Given the description of an element on the screen output the (x, y) to click on. 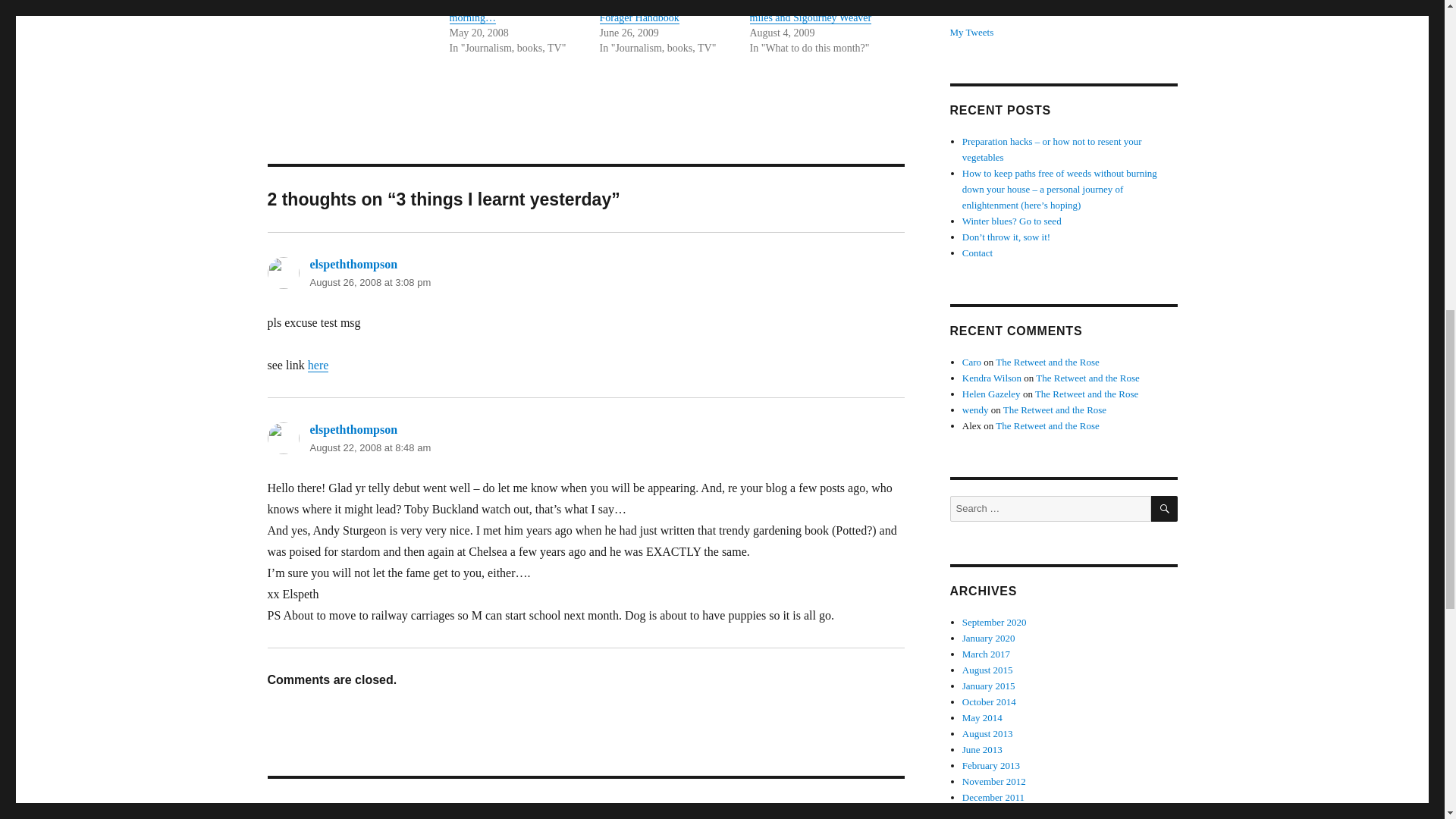
August 26, 2008 at 3:08 pm (369, 282)
here (318, 364)
August 22, 2008 at 8:48 am (369, 447)
elspeththompson (352, 429)
elspeththompson (352, 264)
